Given the description of an element on the screen output the (x, y) to click on. 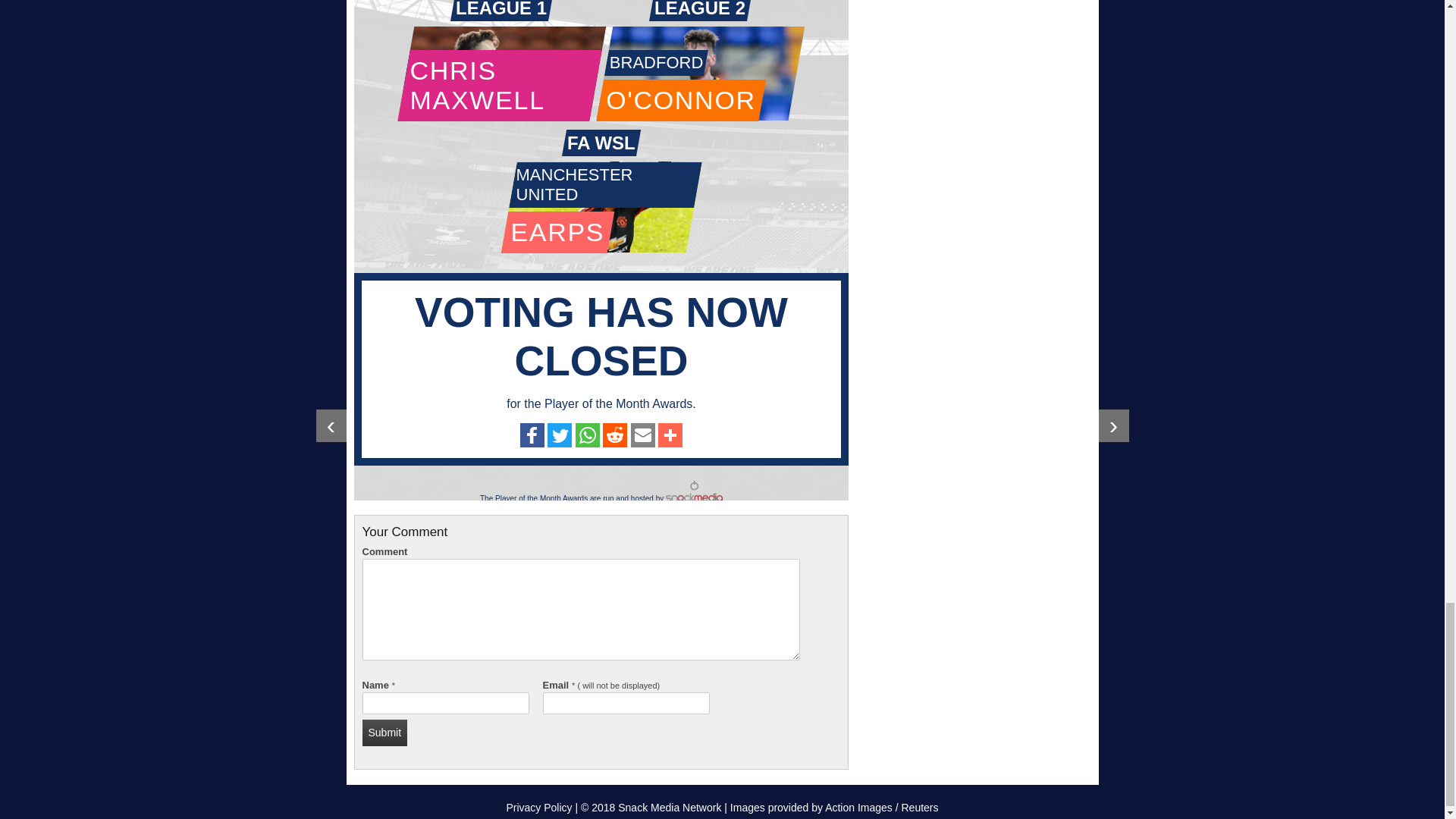
Privacy Policy (538, 807)
Submit (384, 732)
Submit (384, 732)
